Given the description of an element on the screen output the (x, y) to click on. 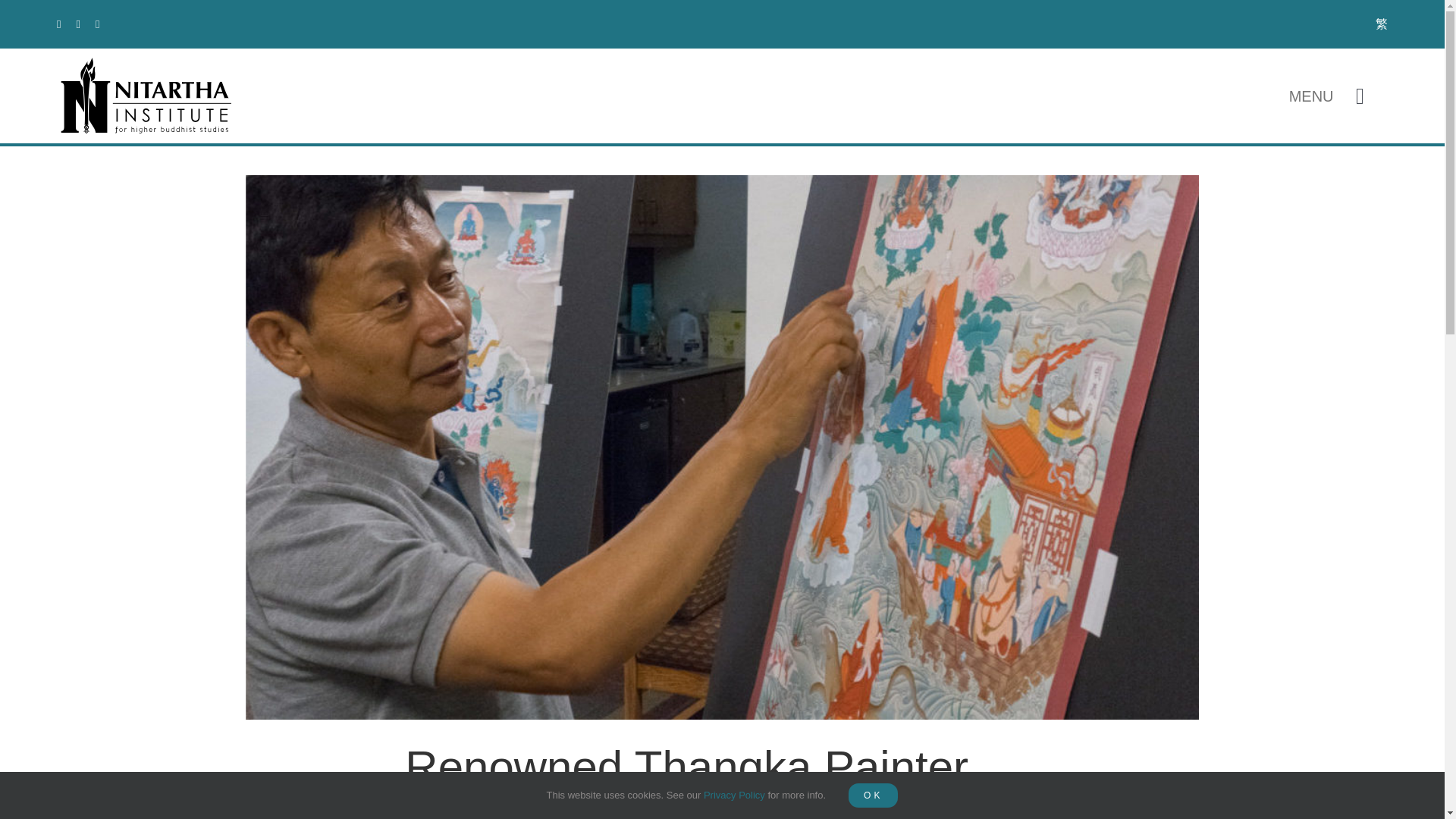
Toggle Navigation (1360, 96)
